Given the description of an element on the screen output the (x, y) to click on. 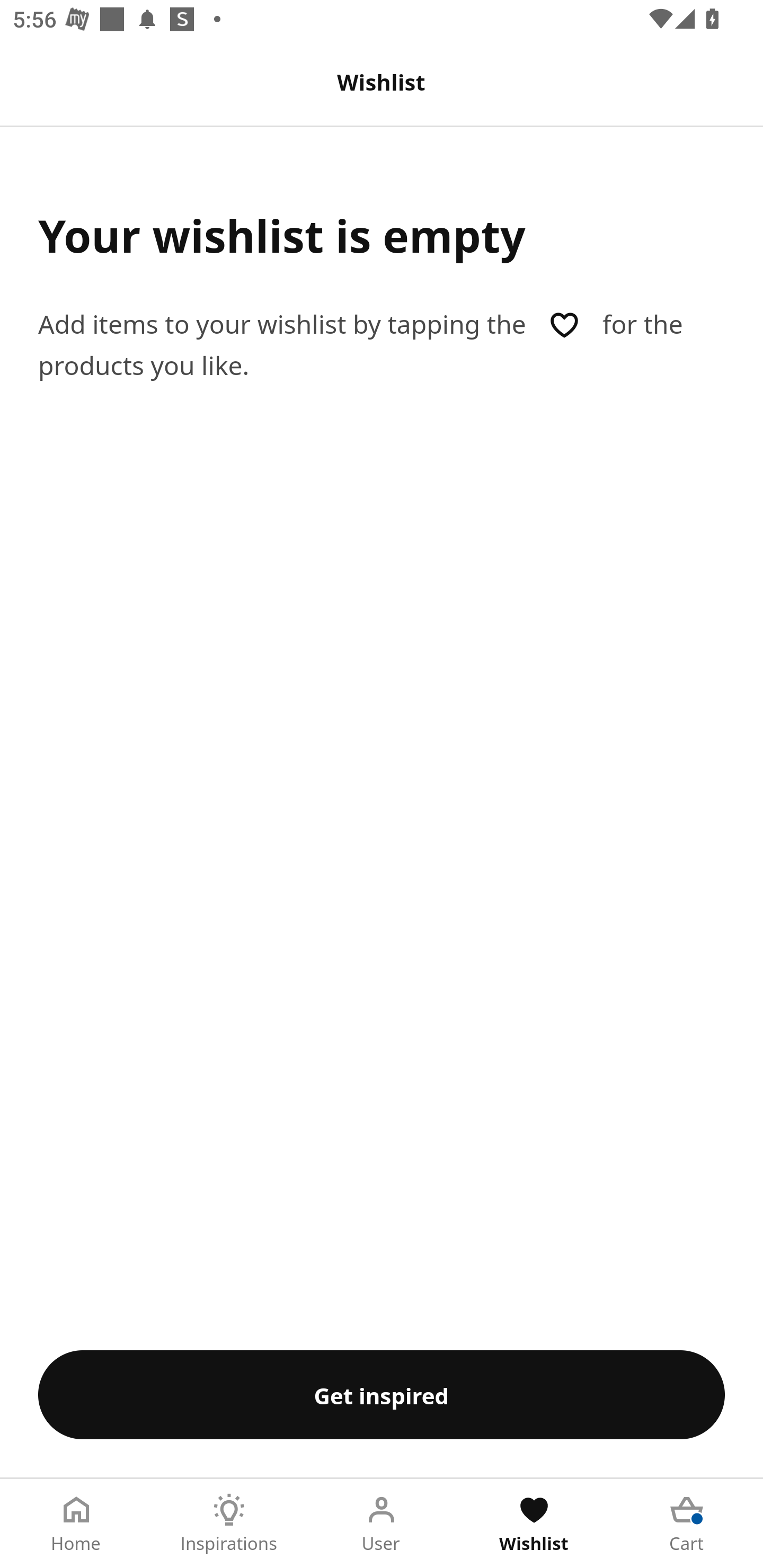
Get inspired (381, 1394)
Home
Tab 1 of 5 (76, 1522)
Inspirations
Tab 2 of 5 (228, 1522)
User
Tab 3 of 5 (381, 1522)
Wishlist
Tab 4 of 5 (533, 1522)
Cart
Tab 5 of 5 (686, 1522)
